Given the description of an element on the screen output the (x, y) to click on. 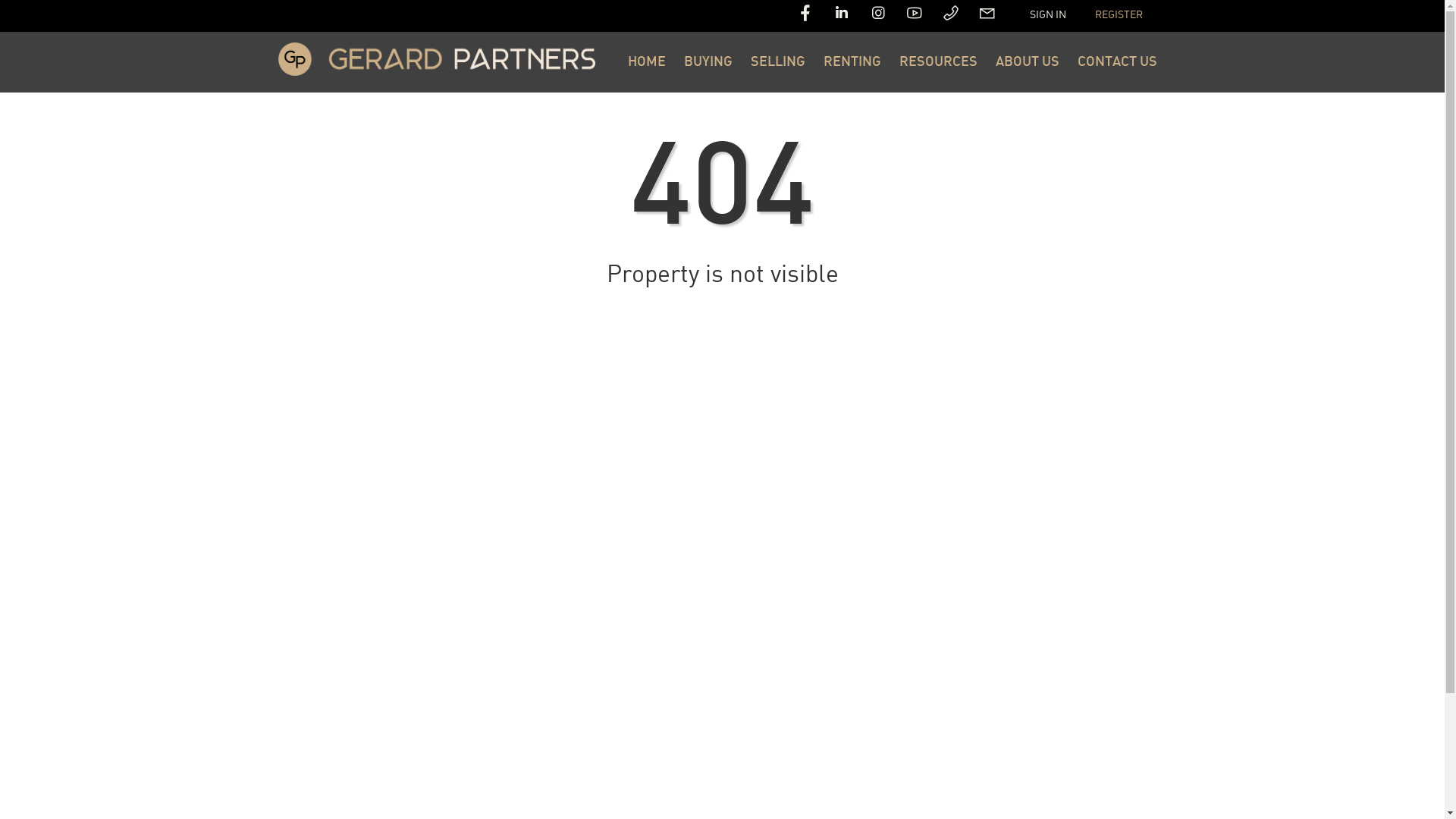
RESOURCES Element type: text (938, 61)
SIGN IN Element type: text (1047, 14)
REGISTER Element type: text (1118, 14)
HOME Element type: text (646, 61)
RENTING Element type: text (852, 61)
SELLING Element type: text (777, 61)
CONTACT US Element type: text (1116, 61)
BUYING Element type: text (707, 61)
ABOUT US Element type: text (1026, 61)
